Given the description of an element on the screen output the (x, y) to click on. 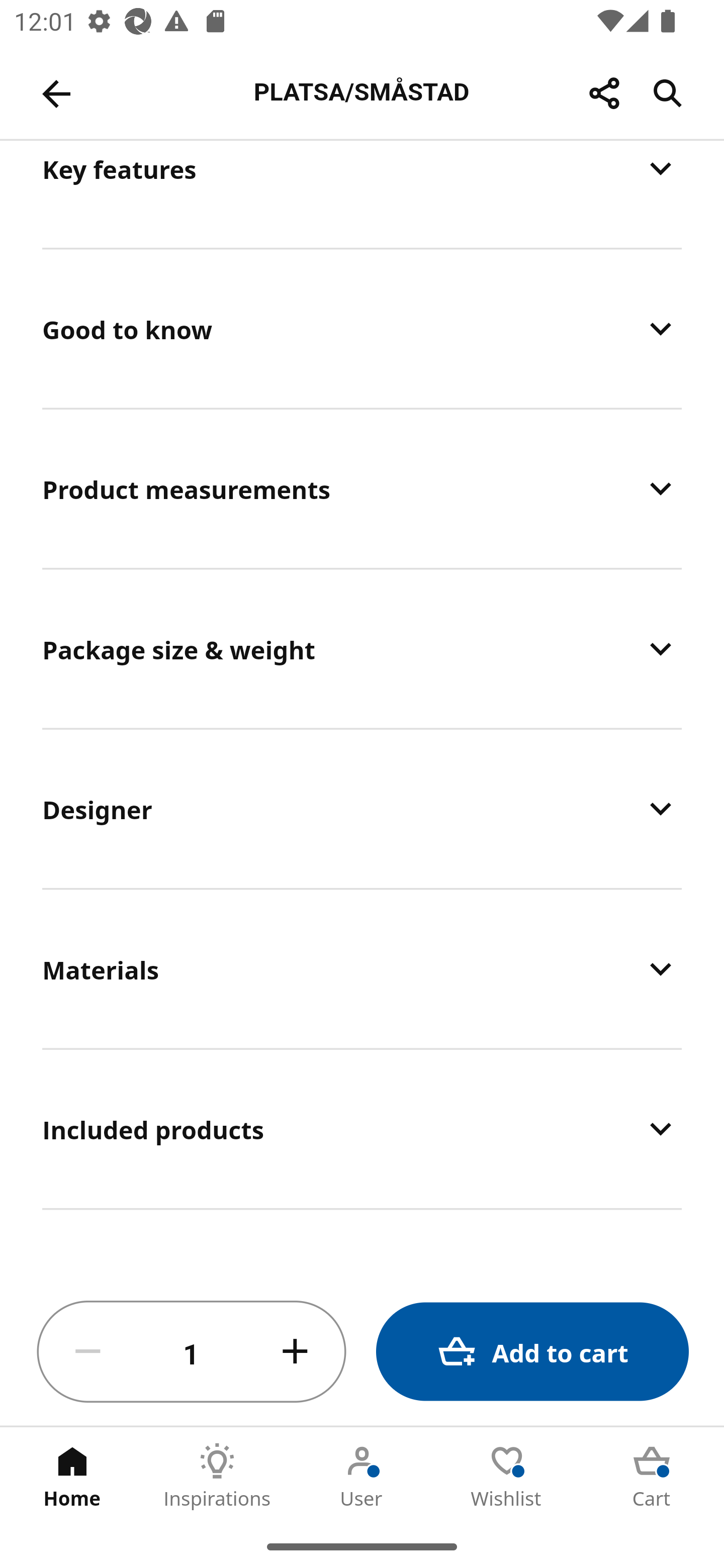
Key features (361, 193)
Good to know (361, 328)
Product measurements (361, 488)
Package size & weight (361, 647)
Designer (361, 807)
Materials (361, 968)
Included products (361, 1128)
Add to cart (531, 1352)
1 (191, 1352)
Home
Tab 1 of 5 (72, 1476)
Inspirations
Tab 2 of 5 (216, 1476)
User
Tab 3 of 5 (361, 1476)
Wishlist
Tab 4 of 5 (506, 1476)
Cart
Tab 5 of 5 (651, 1476)
